Given the description of an element on the screen output the (x, y) to click on. 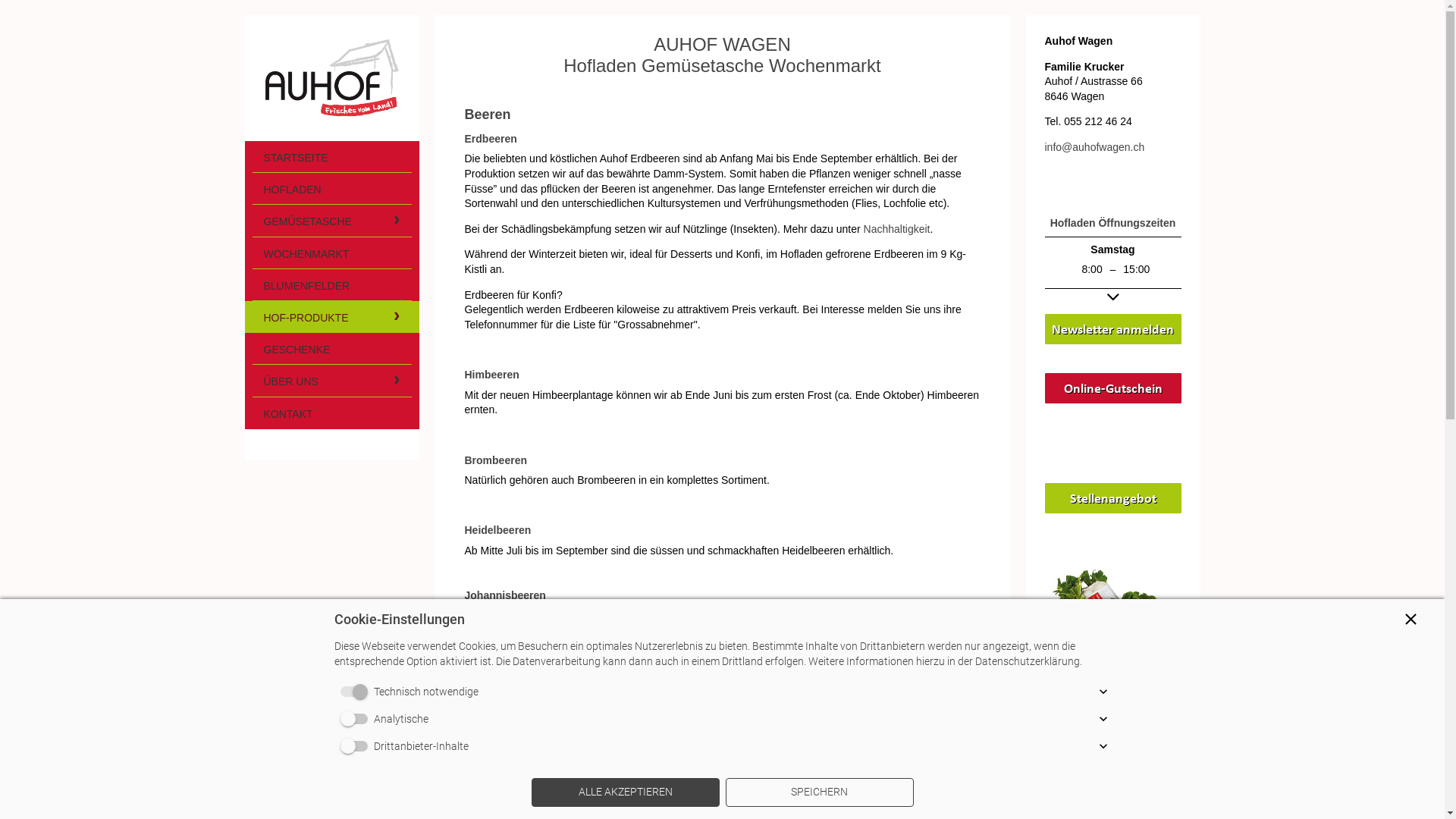
KONTAKT Element type: text (331, 413)
STARTSEITE Element type: text (331, 156)
ALLE AKZEPTIEREN Element type: text (624, 792)
Job Element type: hover (1112, 498)
Online-Gutschein Element type: hover (1112, 388)
HOFLADEN Element type: text (331, 188)
info@auhofwagen.ch Element type: text (1094, 147)
BLUMENFELDER Element type: text (331, 285)
GESCHENKE Element type: text (331, 348)
HOF-PRODUKTE Element type: text (331, 316)
  Element type: text (331, 78)
WOCHENMARKT Element type: text (331, 253)
SPEICHERN Element type: text (818, 792)
Newsletter Anmeldung Element type: hover (1112, 328)
Nachhaltigkeit Element type: text (896, 229)
